Given the description of an element on the screen output the (x, y) to click on. 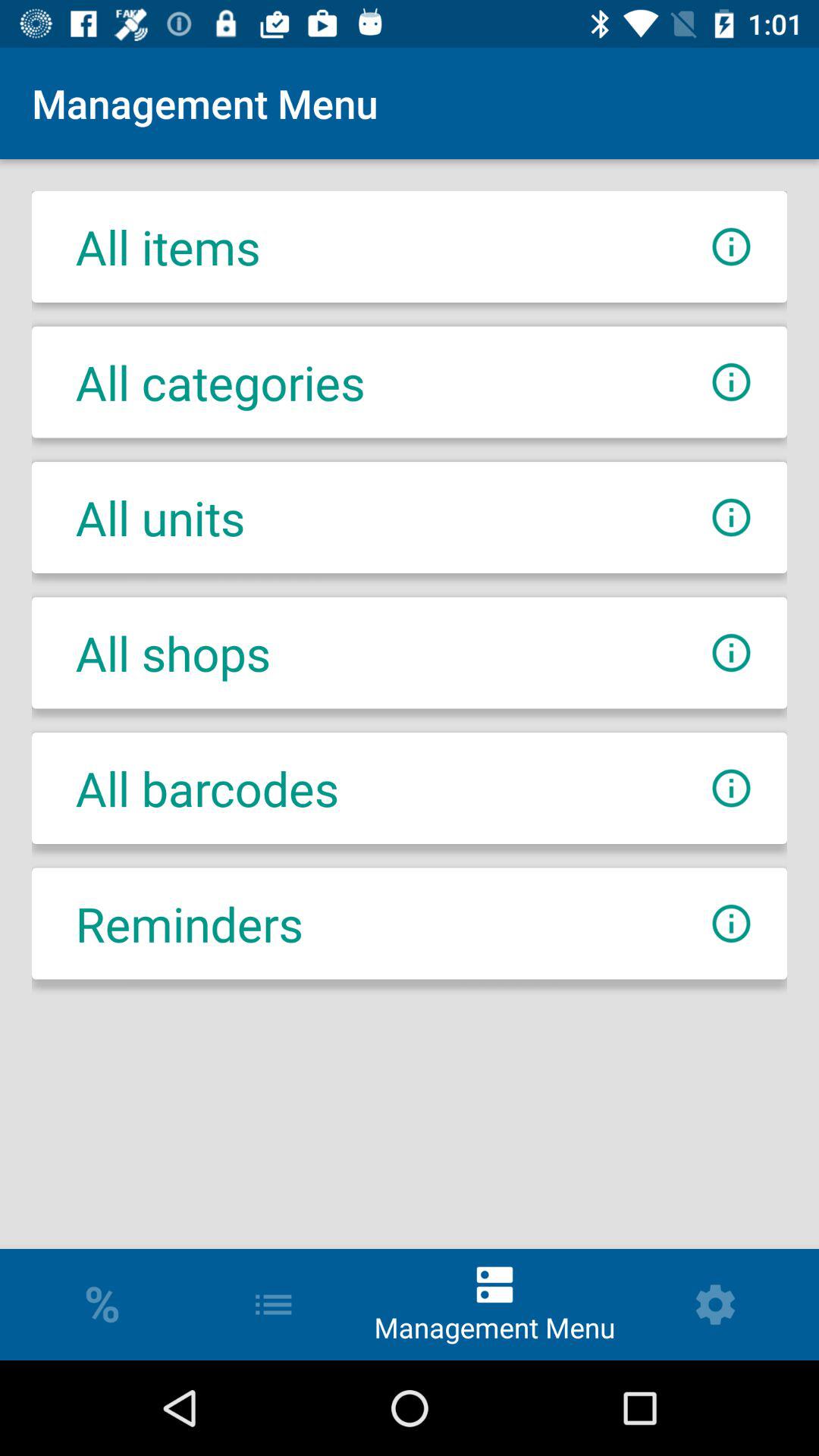
menu information all items (731, 246)
